Given the description of an element on the screen output the (x, y) to click on. 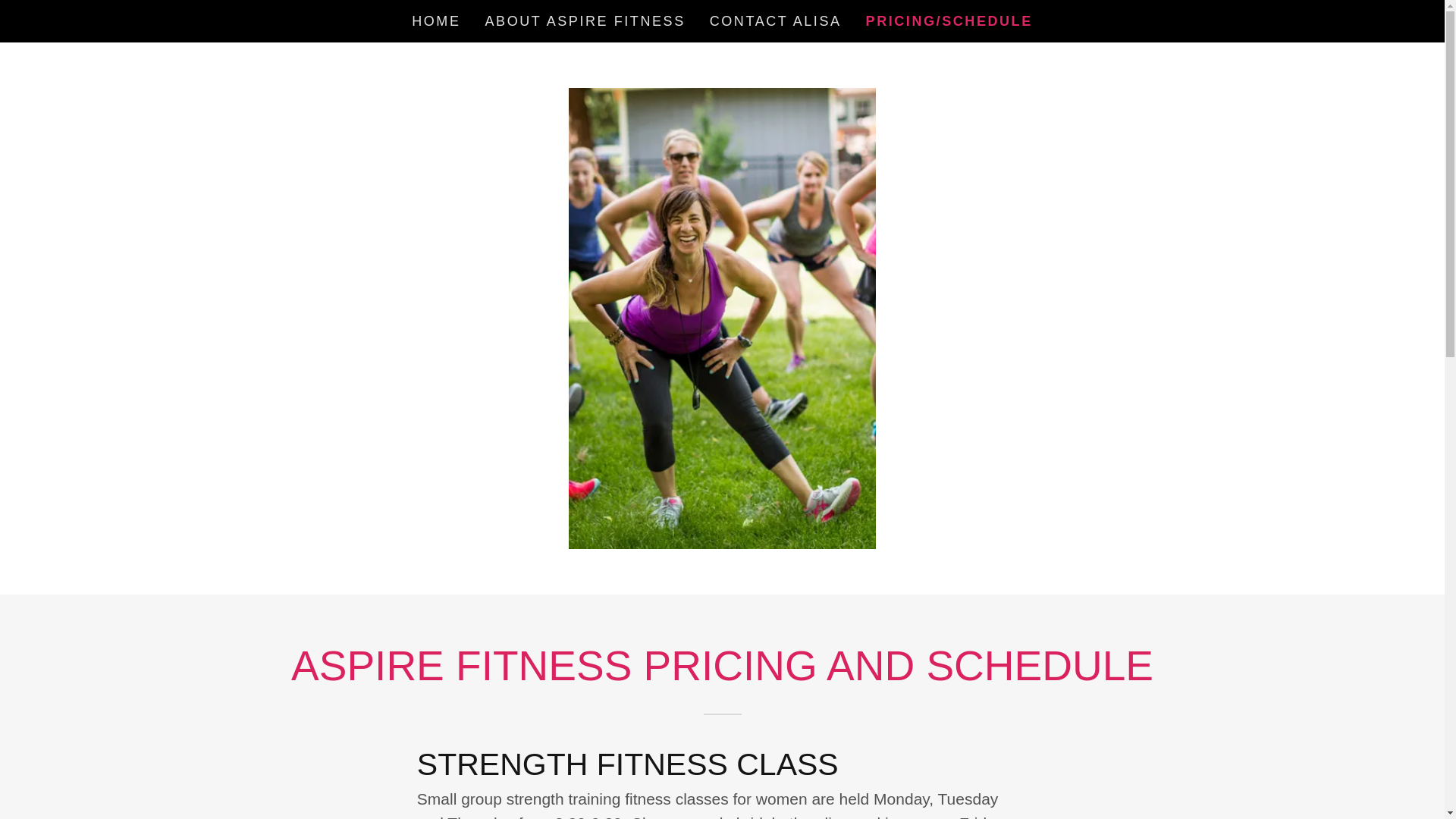
ABOUT ASPIRE FITNESS (585, 21)
CONTACT ALISA (774, 21)
HOME (435, 21)
